Given the description of an element on the screen output the (x, y) to click on. 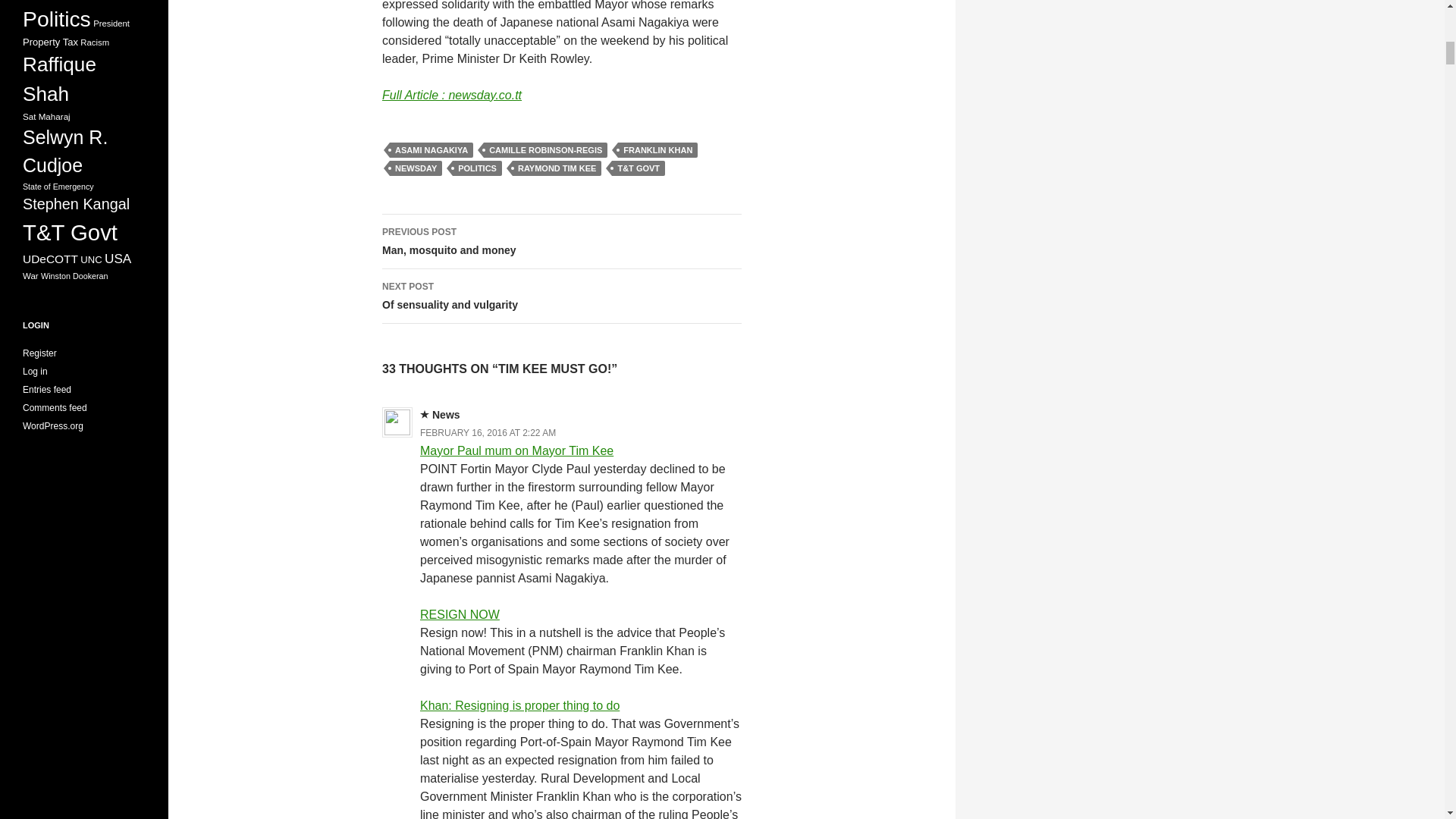
FRANKLIN KHAN (657, 150)
Mayor Paul mum on Mayor Tim Kee (561, 241)
ASAMI NAGAKIYA (516, 450)
POLITICS (431, 150)
NEWSDAY (477, 168)
Khan: Resigning is proper thing to do (416, 168)
FEBRUARY 16, 2016 AT 2:22 AM (520, 705)
CAMILLE ROBINSON-REGIS (488, 432)
RESIGN NOW (545, 150)
